Given the description of an element on the screen output the (x, y) to click on. 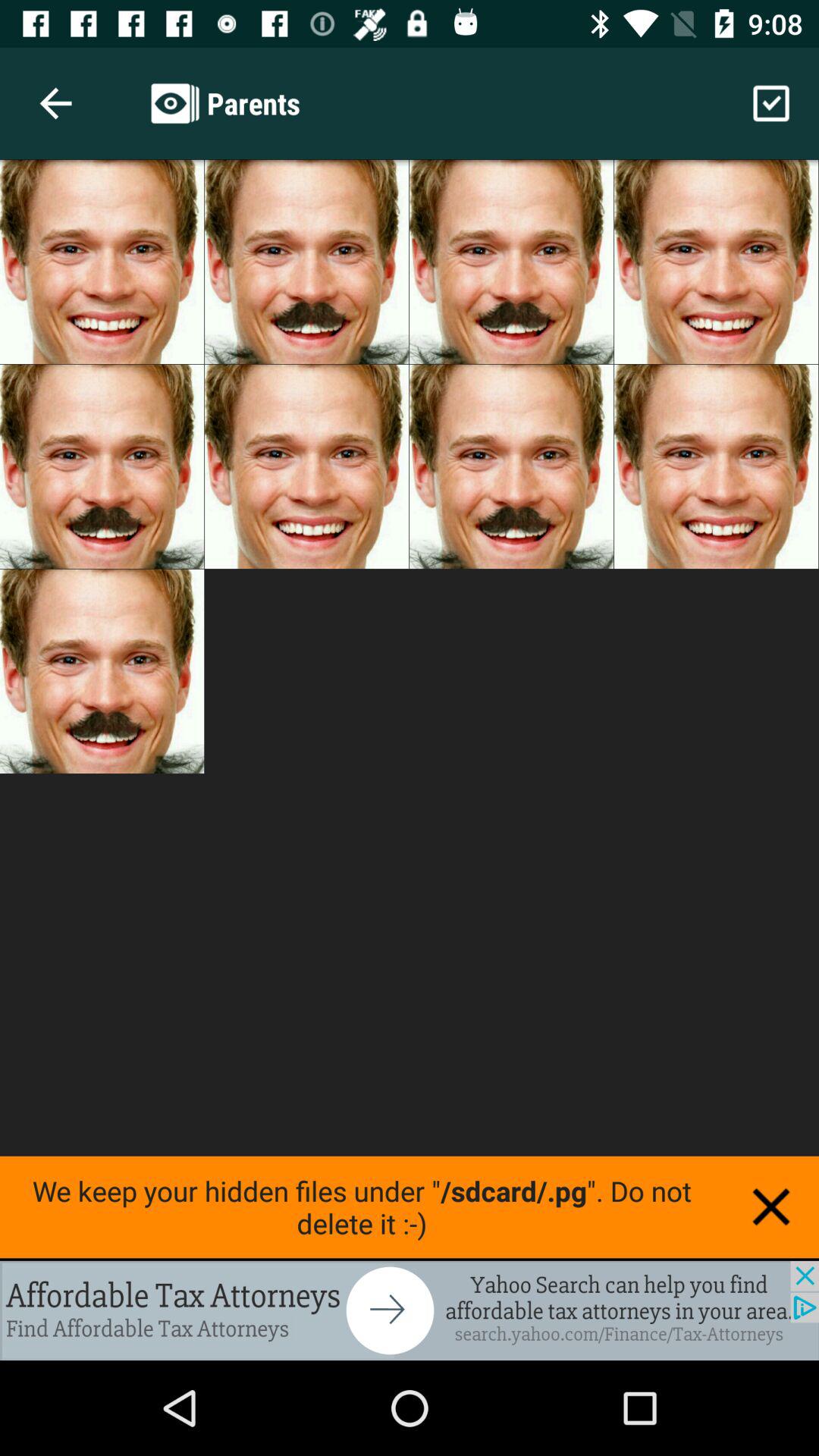
close (771, 1206)
